Given the description of an element on the screen output the (x, y) to click on. 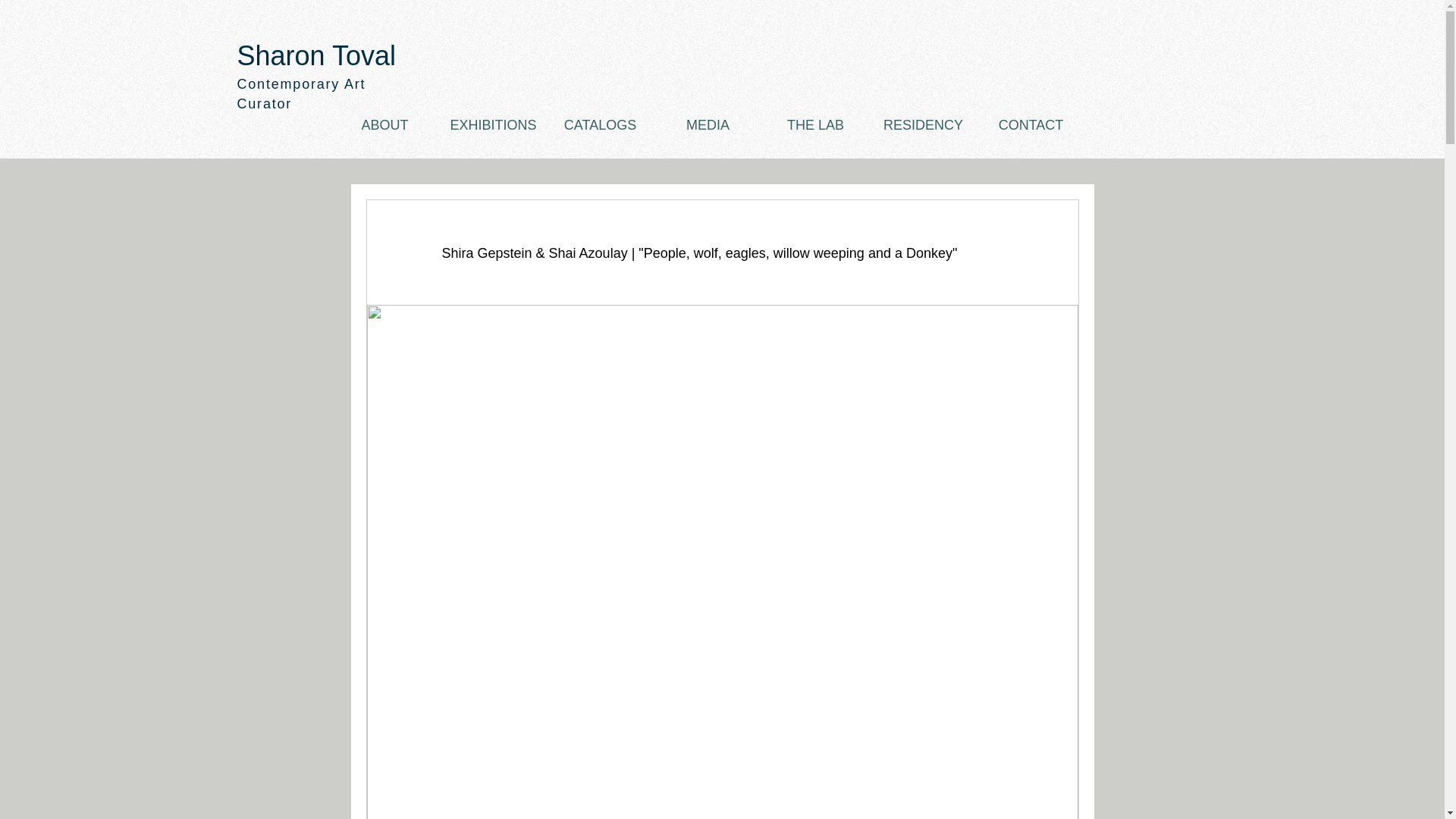
THE LAB (815, 124)
ABOUT (384, 124)
MEDIA (707, 124)
RESIDENCY (922, 124)
EXHIBITIONS (492, 124)
CONTACT (1030, 124)
Sharon Toval (314, 55)
CATALOGS (599, 124)
Contemporary Art Curator (300, 93)
